Given the description of an element on the screen output the (x, y) to click on. 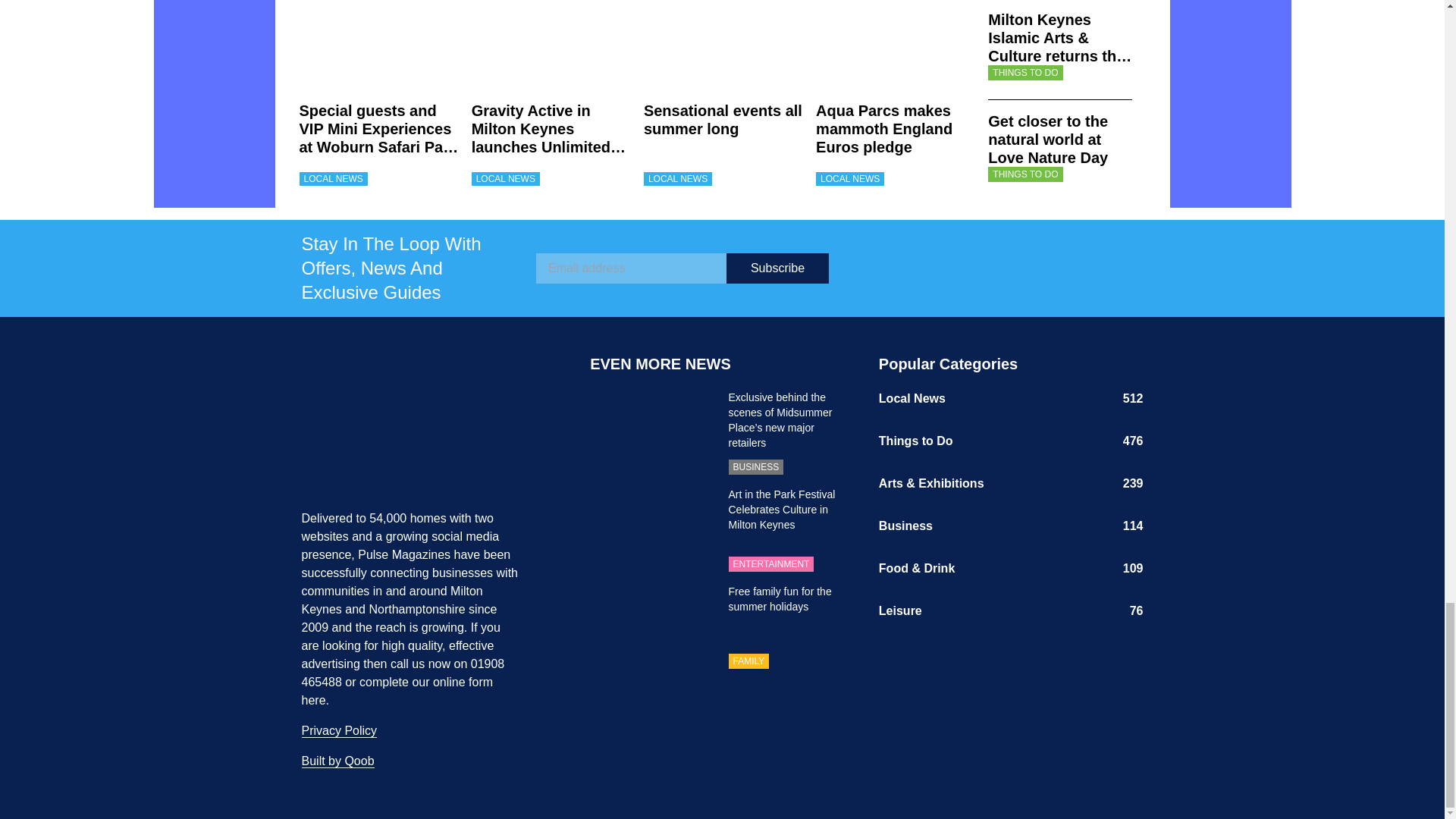
Home (433, 430)
Subscribe (777, 267)
